Given the description of an element on the screen output the (x, y) to click on. 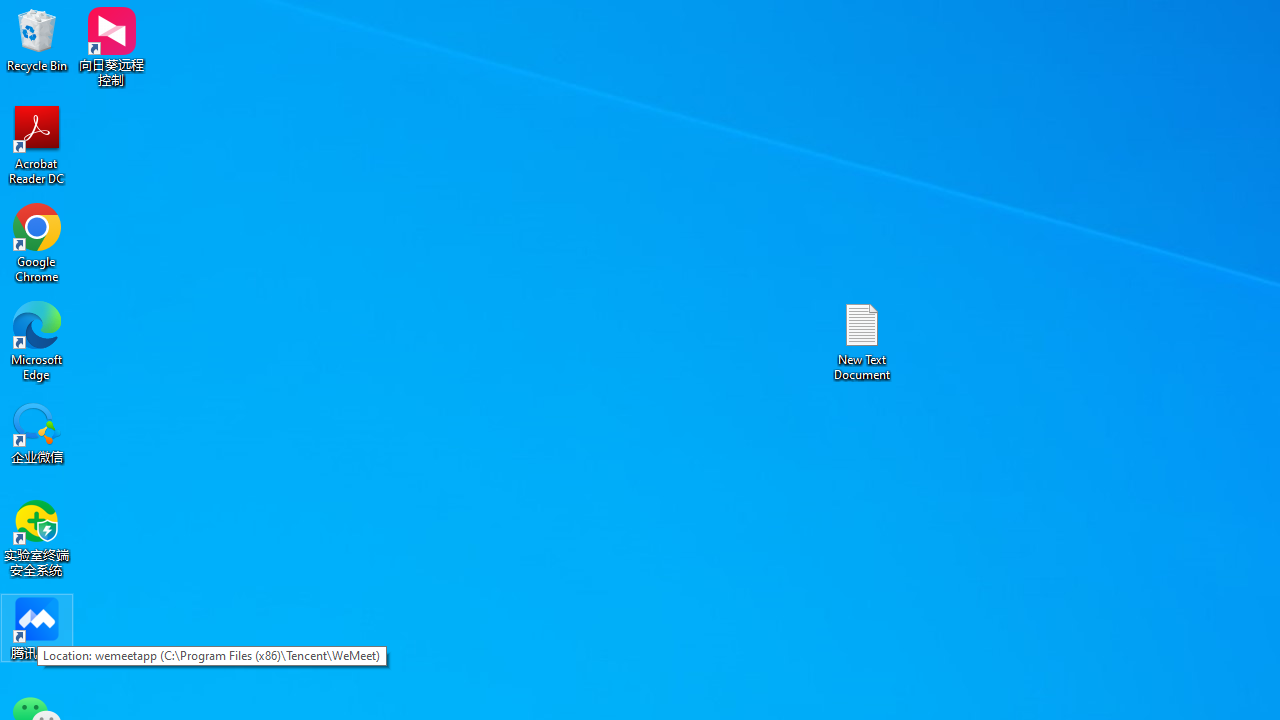
Microsoft Edge (37, 340)
Google Chrome (37, 242)
Recycle Bin (37, 39)
New Text Document (861, 340)
Acrobat Reader DC (37, 144)
